Given the description of an element on the screen output the (x, y) to click on. 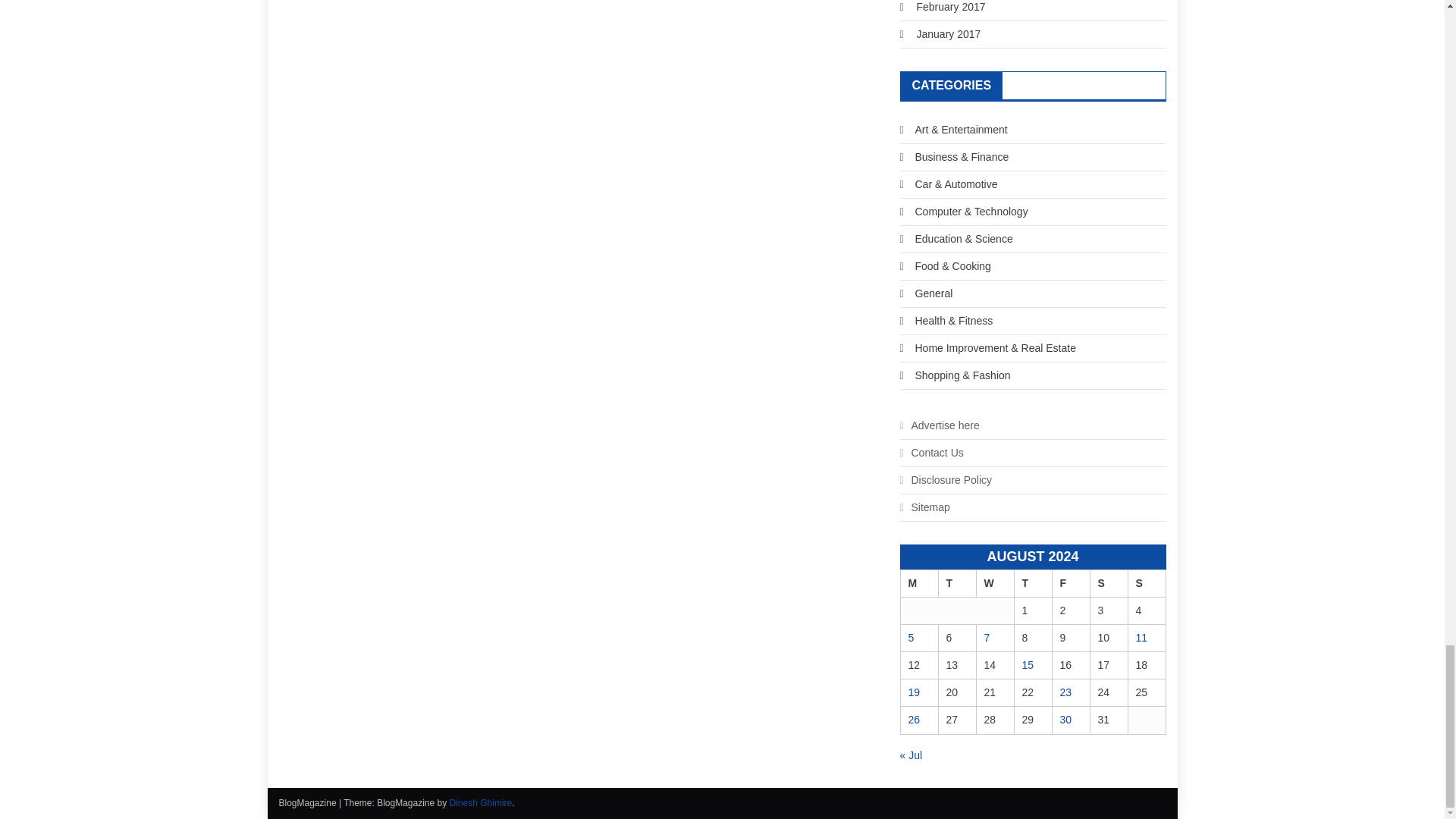
Saturday (1107, 583)
Tuesday (956, 583)
Friday (1070, 583)
Monday (918, 583)
Wednesday (994, 583)
Thursday (1032, 583)
Sunday (1146, 583)
